Given the description of an element on the screen output the (x, y) to click on. 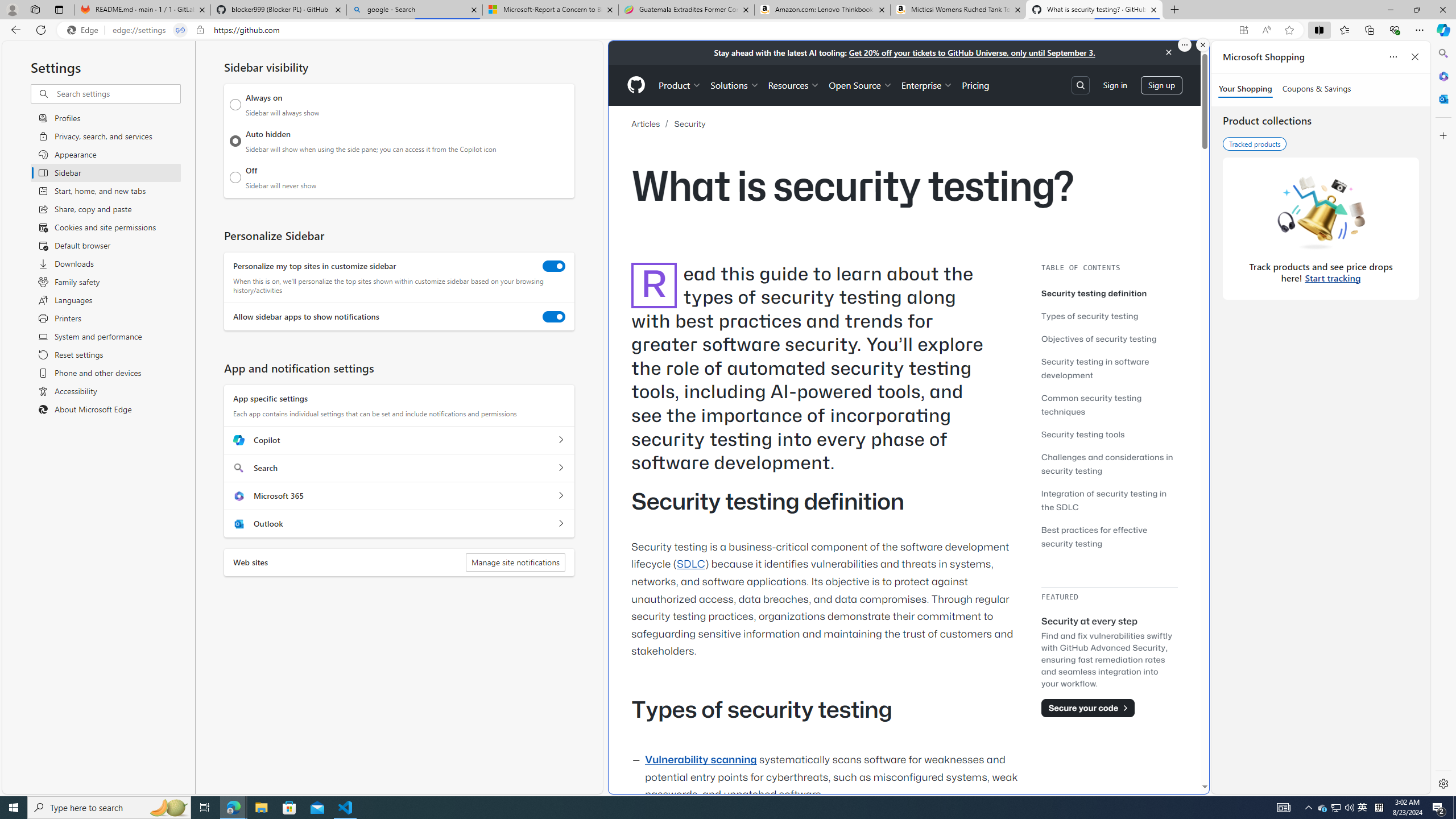
Vulnerability scanning (701, 759)
SDLC (689, 564)
App available. Install GitHub (1243, 29)
Sign up (1161, 84)
Types of security testing (1109, 315)
Resources (793, 84)
Open Source (860, 84)
Security testing in software development (1109, 368)
